Given the description of an element on the screen output the (x, y) to click on. 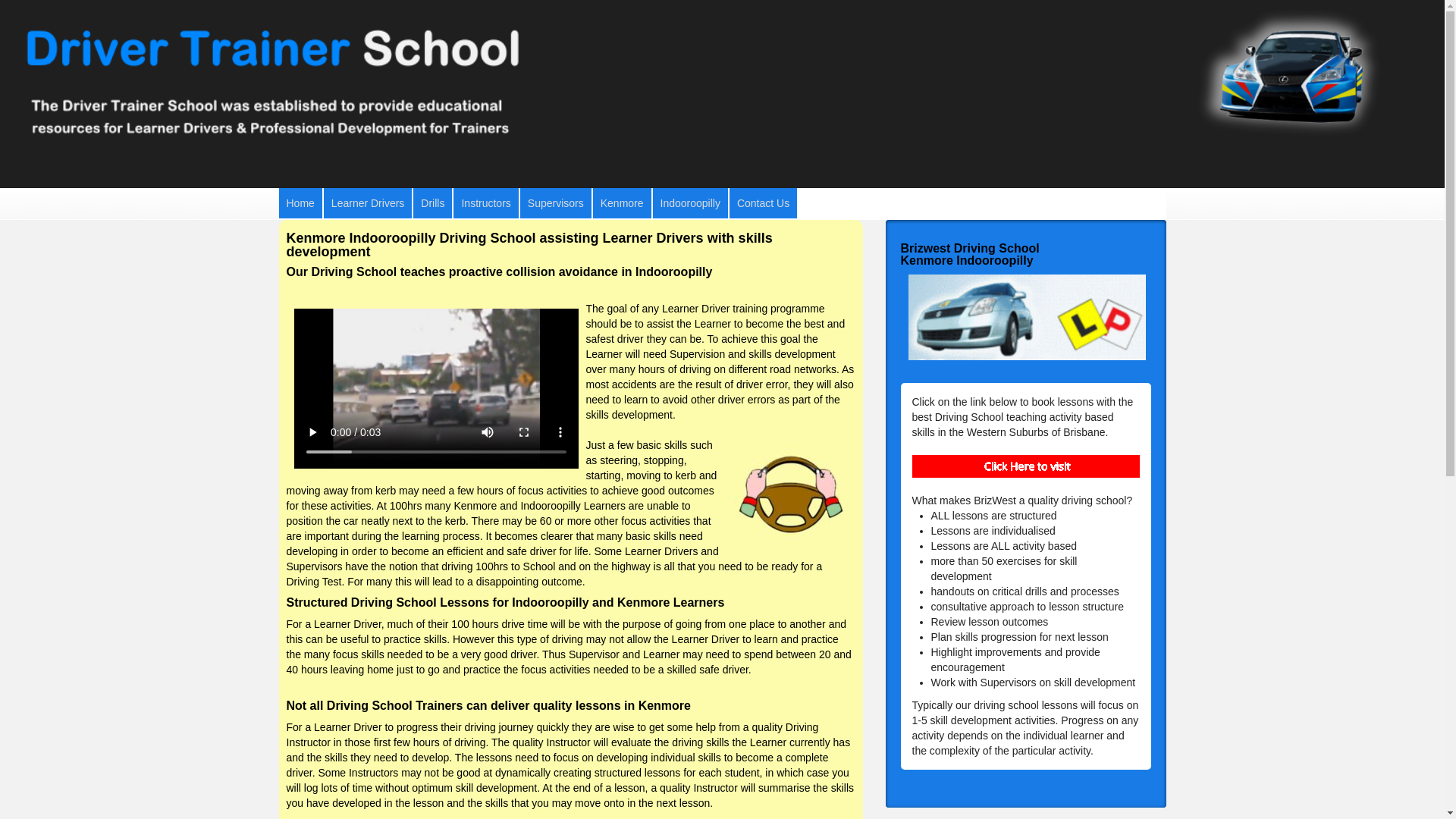
Contact Us Element type: text (763, 203)
Supervisors Element type: text (555, 203)
Drills Element type: text (432, 203)
Learner Drivers Element type: text (367, 203)
Instructors Element type: text (485, 203)
Indooroopilly Element type: text (690, 203)
Home Element type: text (300, 203)
Kenmore Element type: text (622, 203)
